Given the description of an element on the screen output the (x, y) to click on. 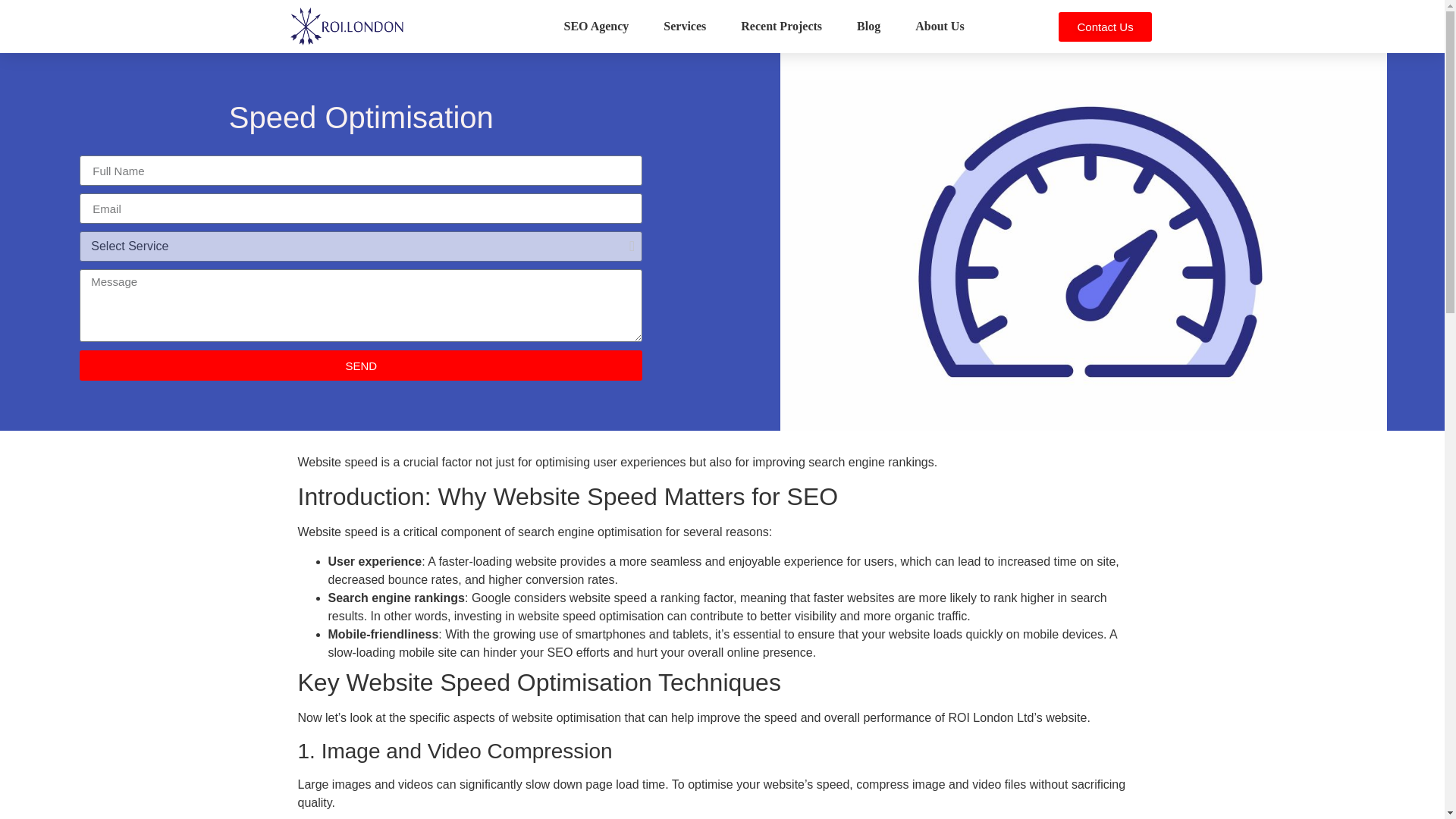
Blog (868, 26)
About Us (938, 26)
Services (683, 26)
Contact Us (1104, 26)
Recent Projects (781, 26)
SEO Agency (596, 26)
